Given the description of an element on the screen output the (x, y) to click on. 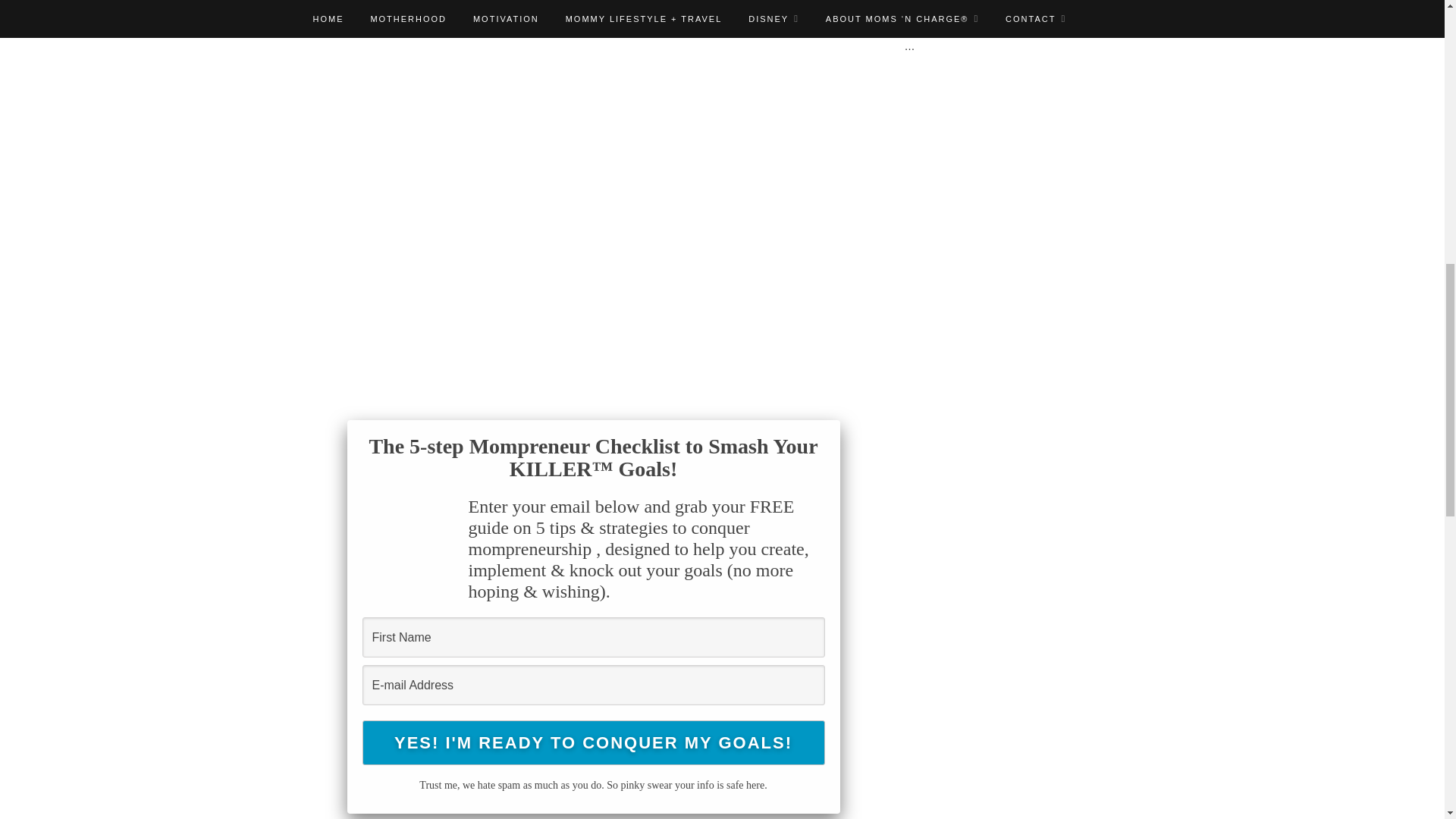
YES! I'm ready to conquer my goals! (593, 742)
YES! I'm ready to conquer my goals! (593, 742)
